Given the description of an element on the screen output the (x, y) to click on. 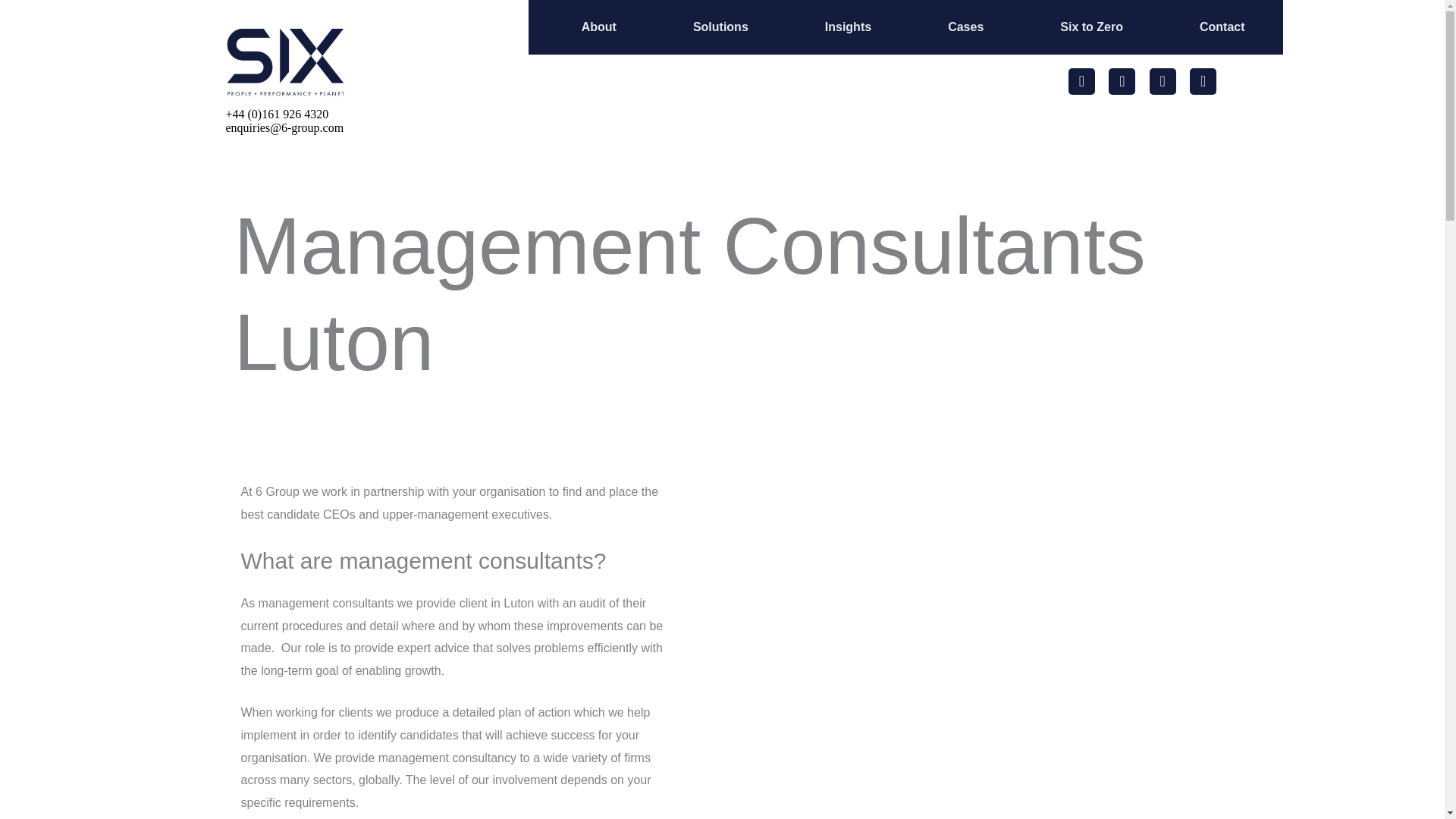
Insights (847, 27)
Cases (966, 27)
6Group-logo-small-new (285, 62)
About (598, 27)
Solutions (720, 27)
Six to Zero (1091, 27)
Contact (1221, 27)
